Given the description of an element on the screen output the (x, y) to click on. 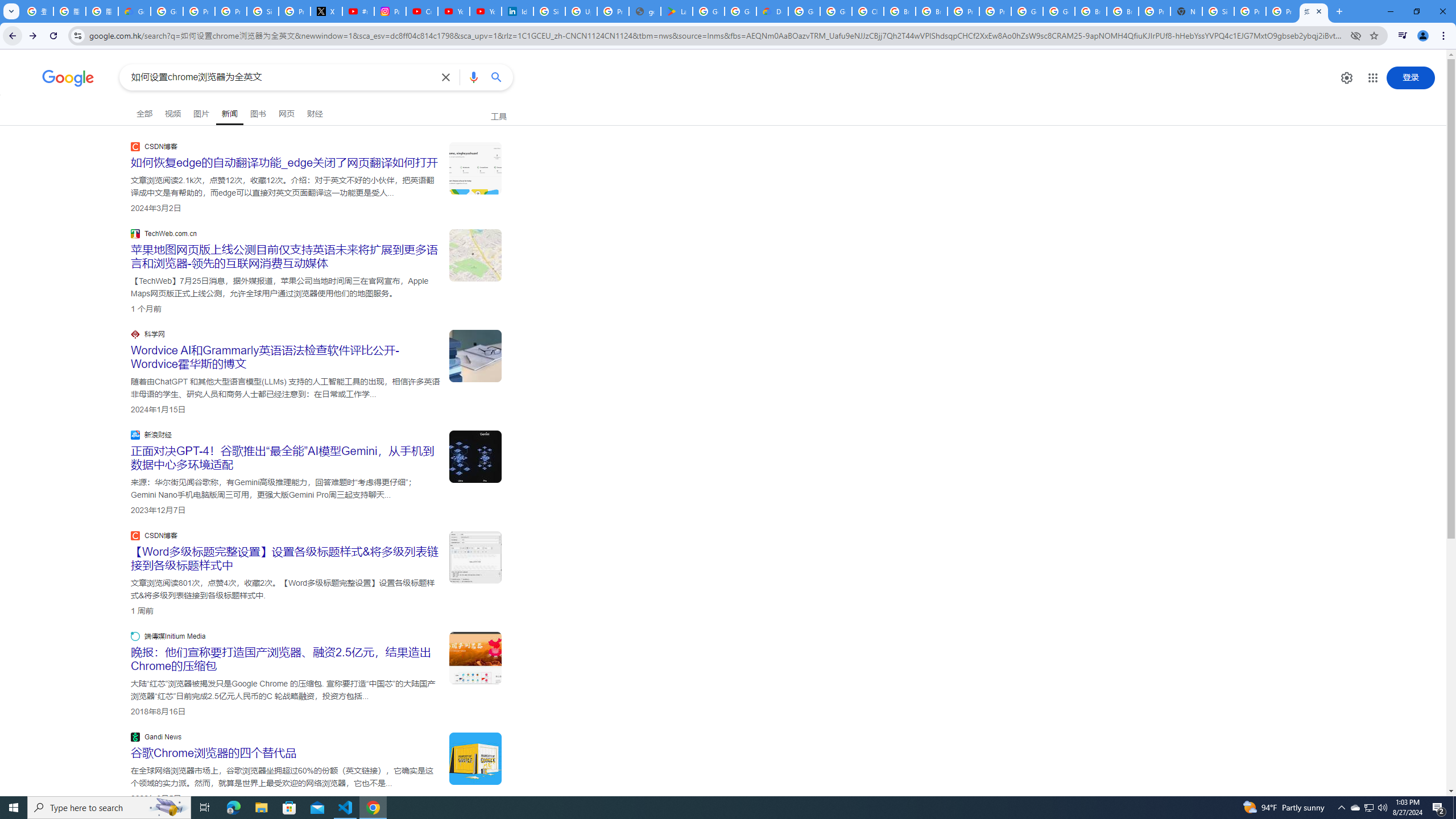
Last Shelter: Survival - Apps on Google Play (676, 11)
Google Cloud Platform (804, 11)
